Given the description of an element on the screen output the (x, y) to click on. 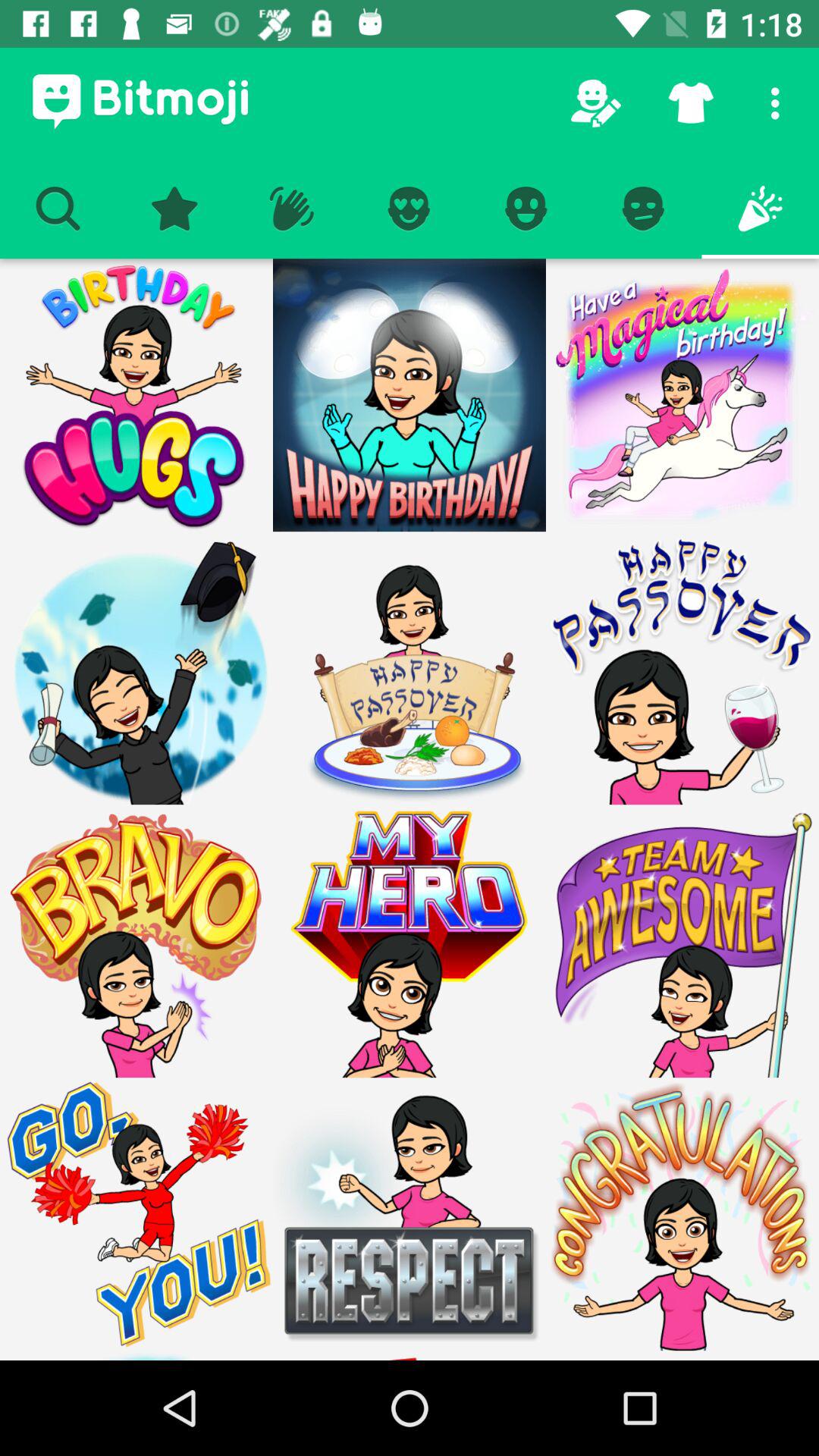
add magic birthday bitmoji (682, 394)
